Given the description of an element on the screen output the (x, y) to click on. 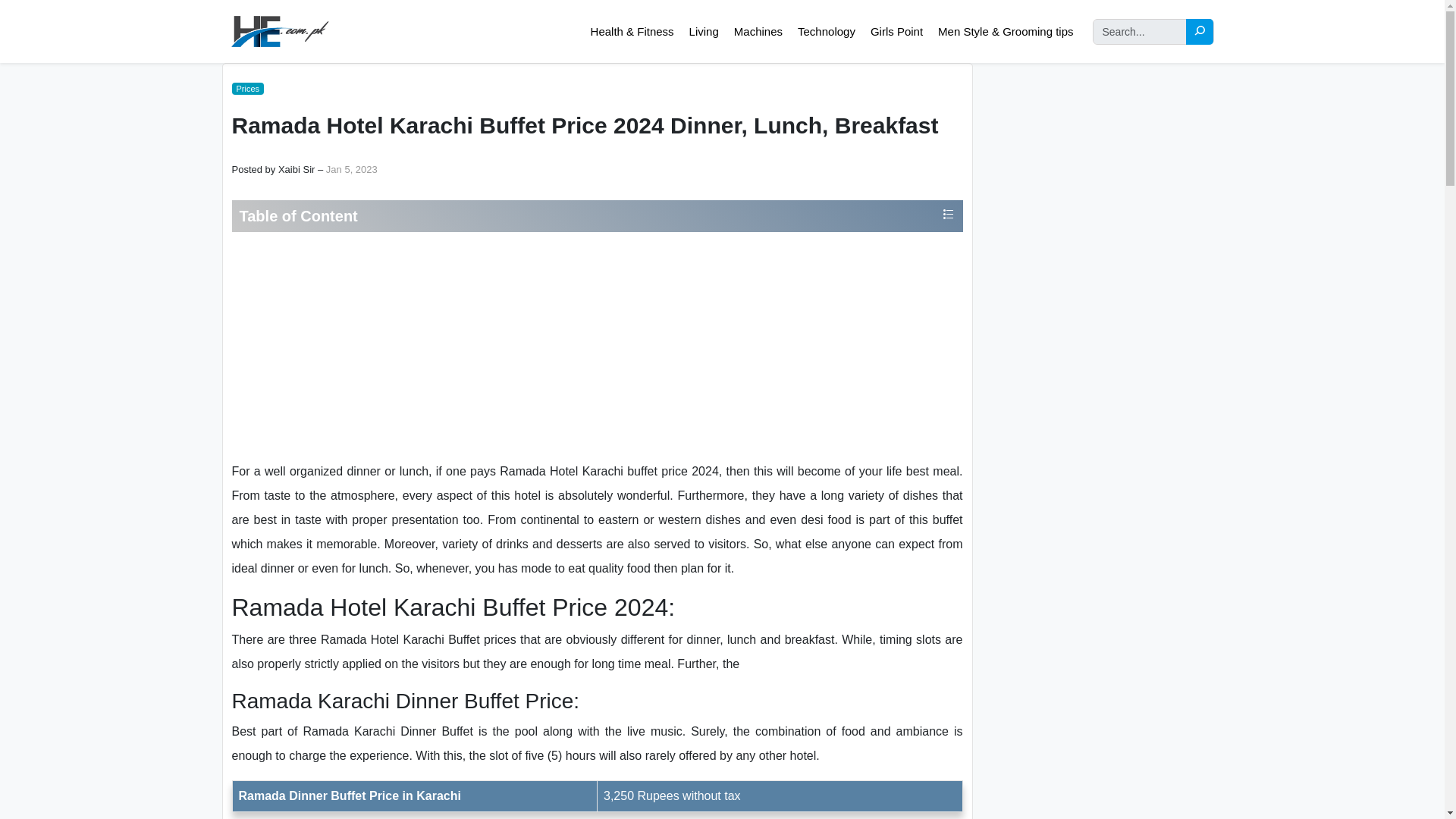
Prices (247, 88)
Machines (758, 31)
Living (703, 31)
Girls Point (896, 31)
Advertisement (596, 345)
Technology (826, 31)
